Given the description of an element on the screen output the (x, y) to click on. 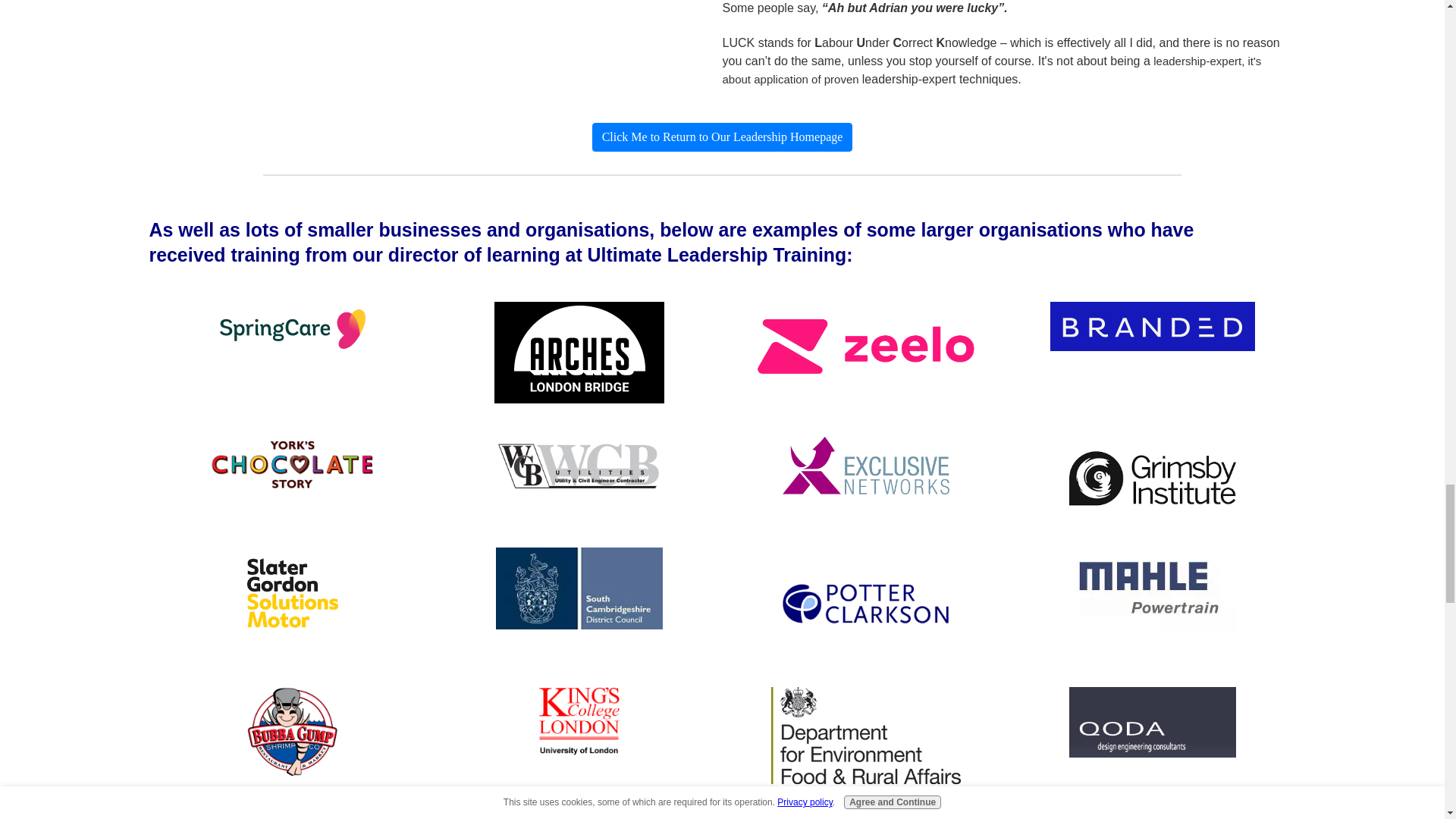
spring care (292, 329)
Click Me to Return to Our Leadership Homepage (722, 136)
branded (1151, 326)
Go to LEADERSHIP SKILLS TRAINING (722, 136)
Gatwick School (292, 815)
arches (579, 352)
Zeelo (865, 346)
